Given the description of an element on the screen output the (x, y) to click on. 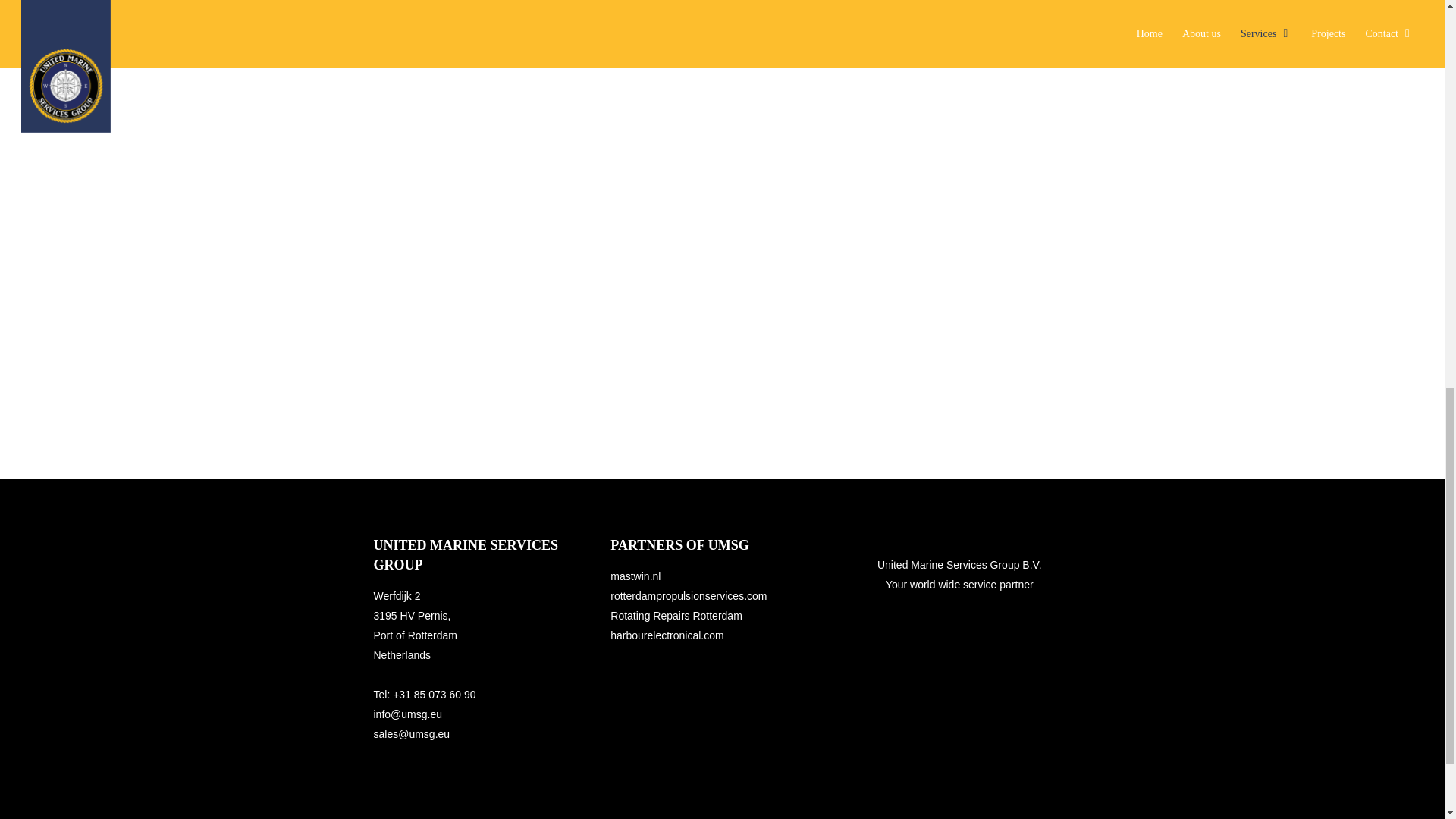
harbourelectronical.com  (668, 635)
rotterdampropulsionservices.com (688, 595)
mastwin.nl  (636, 576)
Rotating Repairs Rotterdam (676, 615)
